Given the description of an element on the screen output the (x, y) to click on. 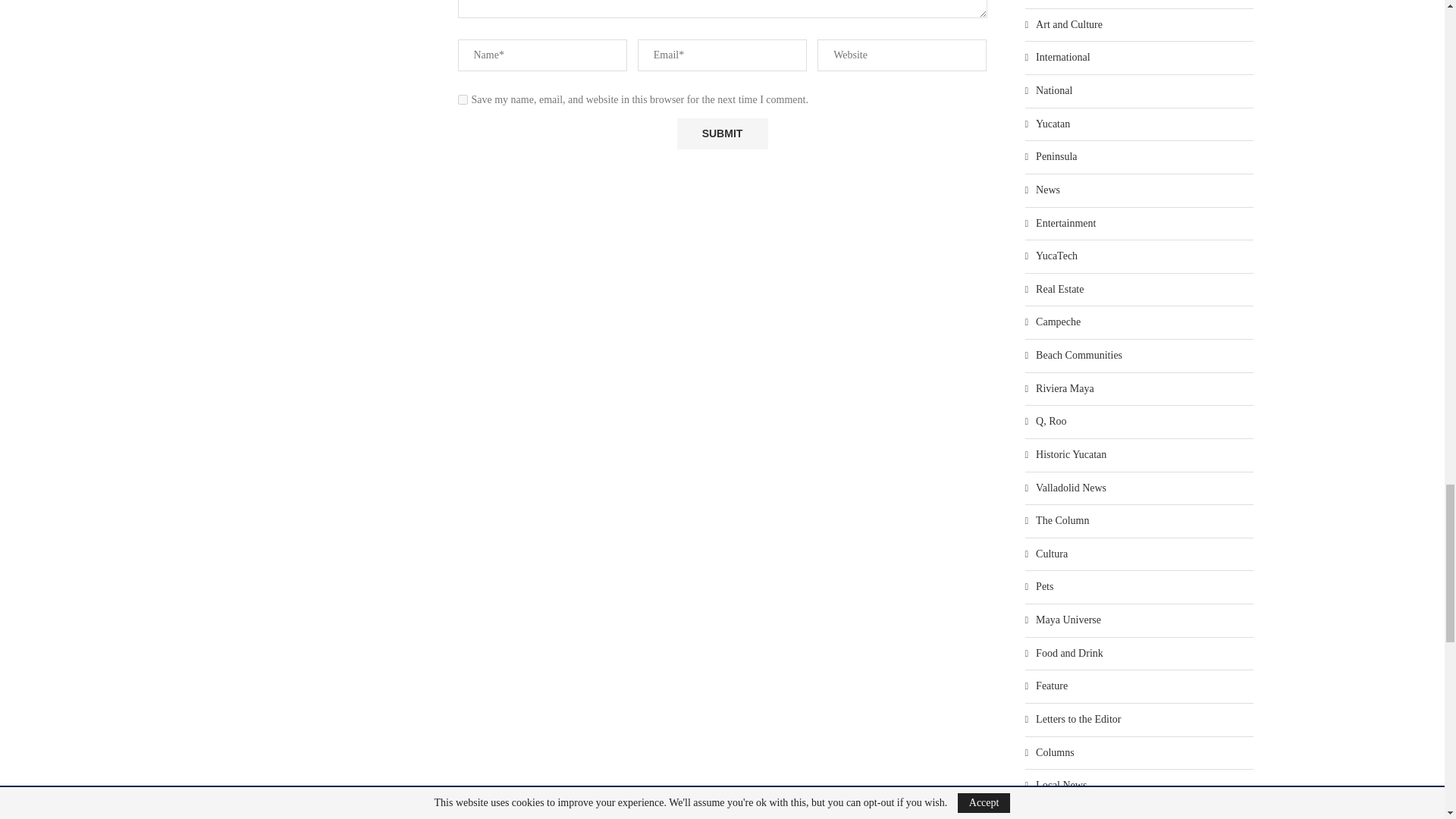
Submit (722, 133)
yes (462, 99)
